Given the description of an element on the screen output the (x, y) to click on. 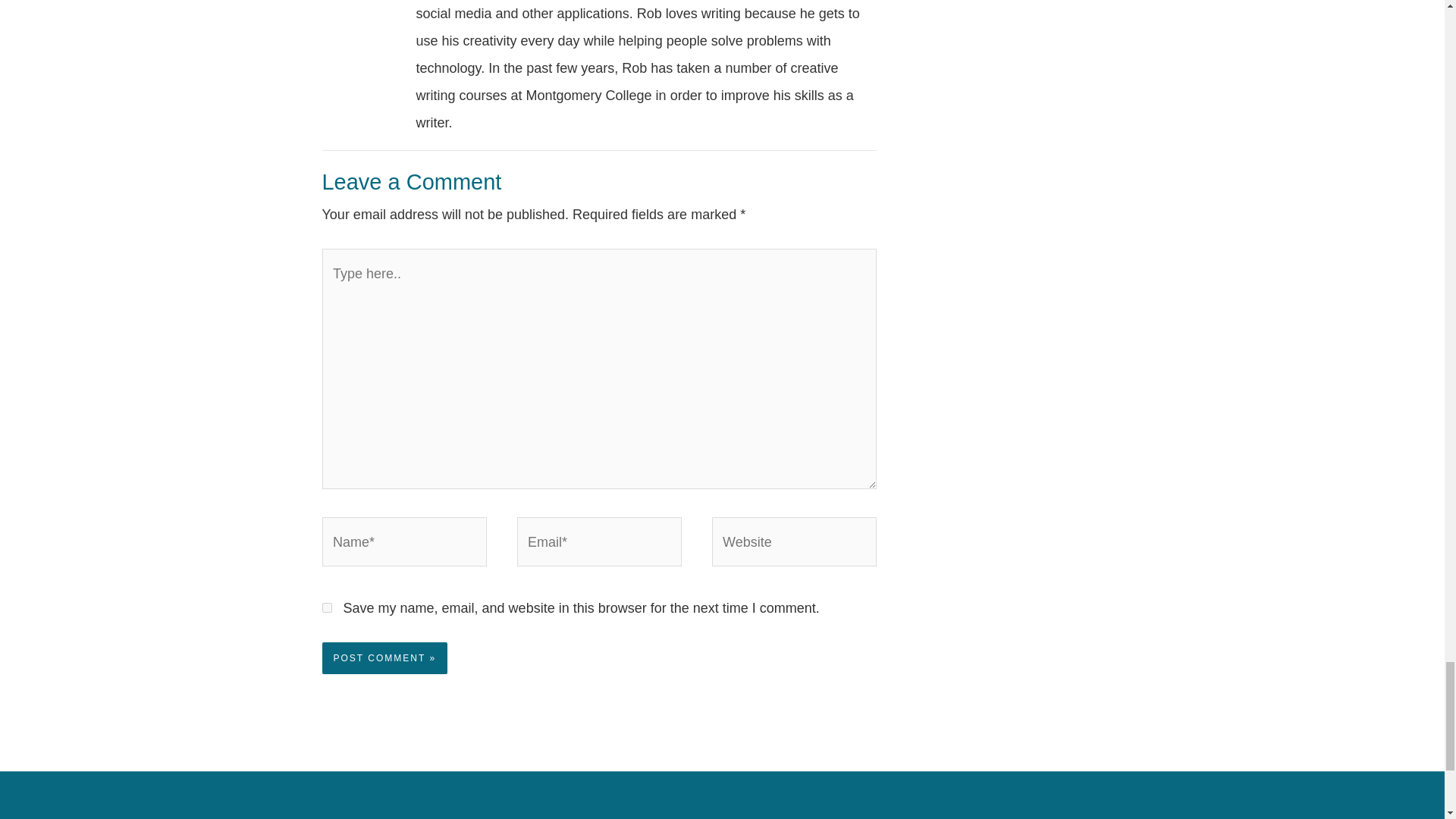
yes (326, 607)
